Given the description of an element on the screen output the (x, y) to click on. 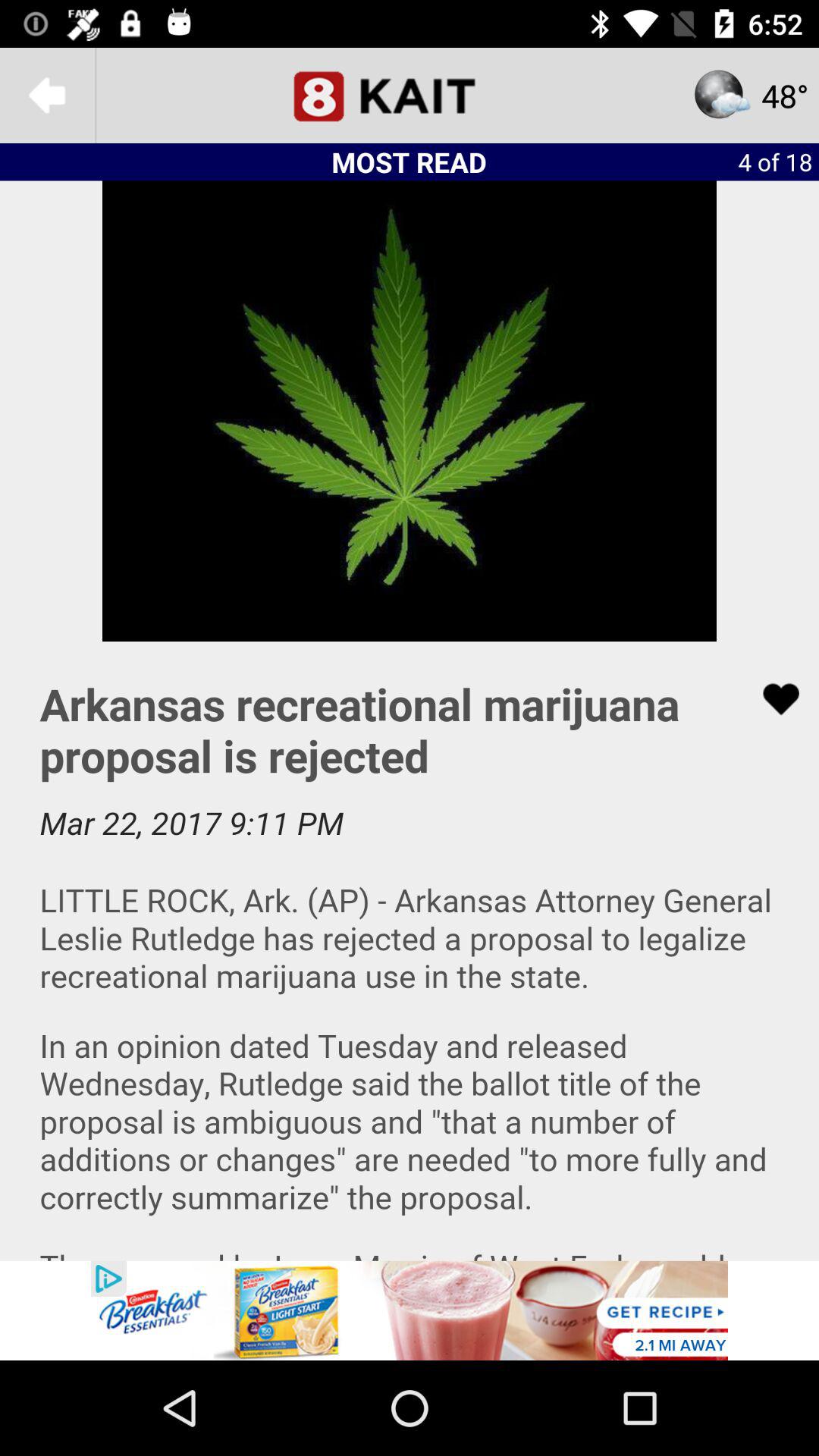
like option (771, 699)
